Given the description of an element on the screen output the (x, y) to click on. 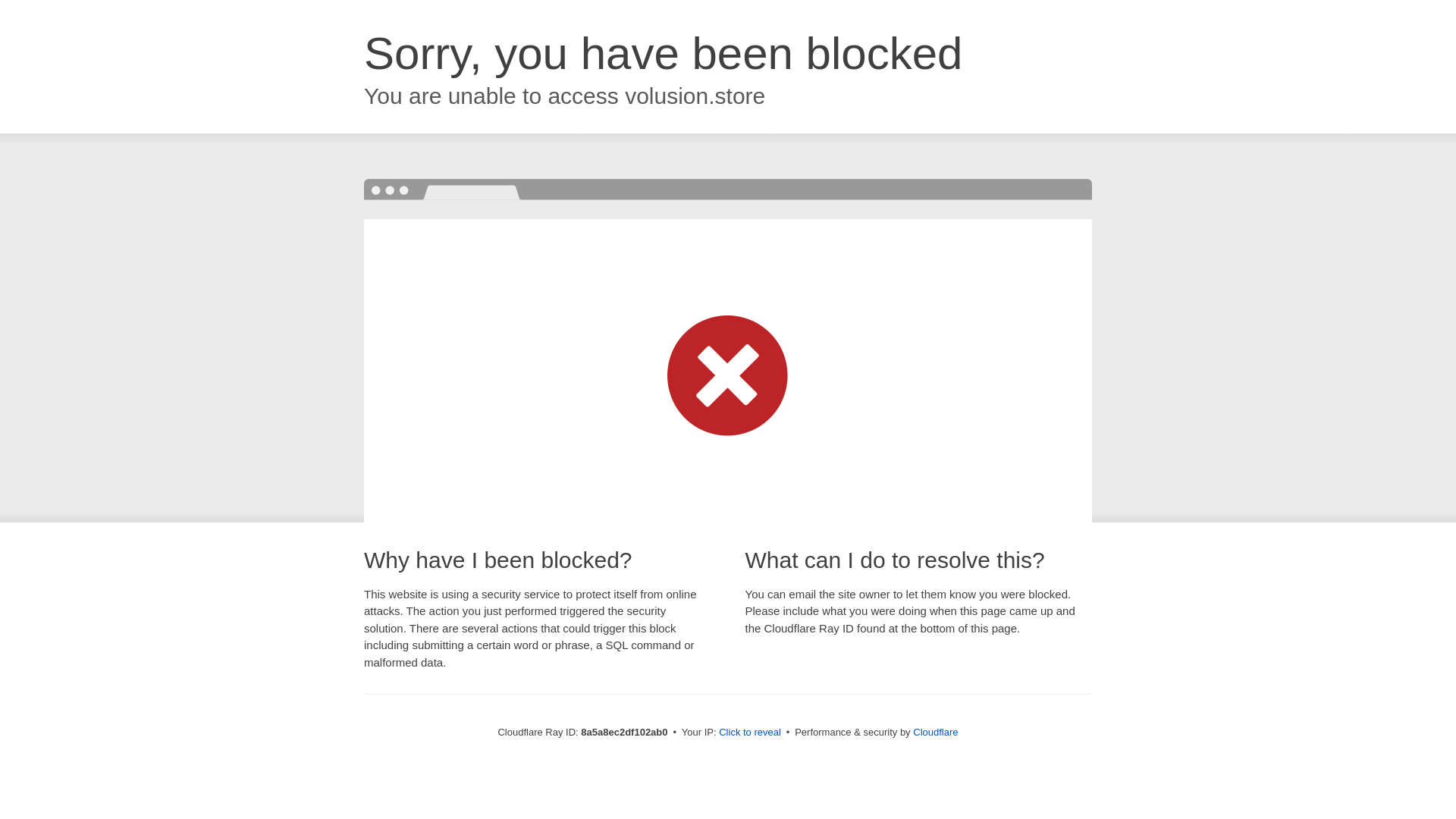
Click to reveal (749, 732)
Cloudflare (935, 731)
